Given the description of an element on the screen output the (x, y) to click on. 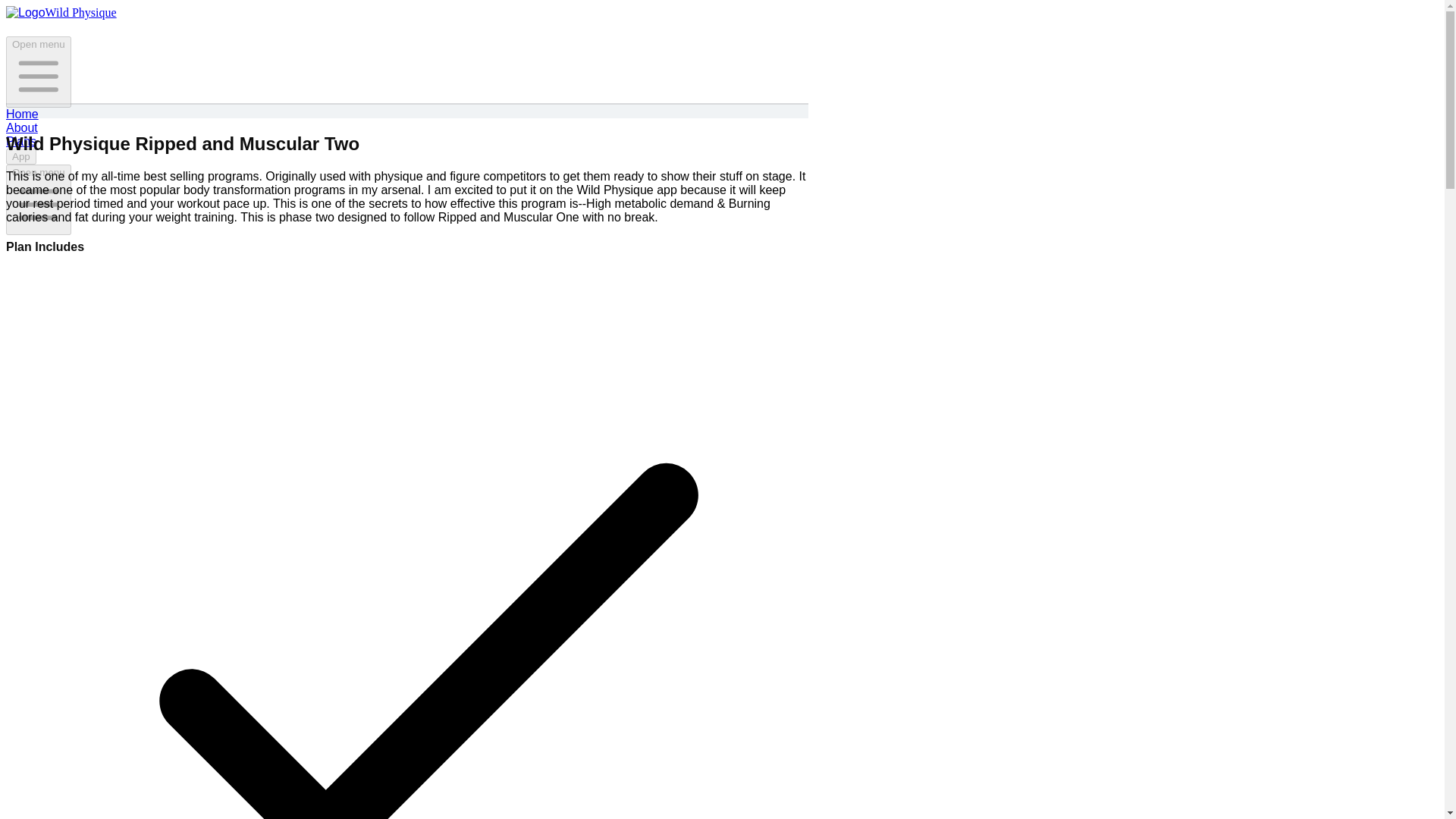
Open menu (38, 199)
Open menu (38, 71)
App (20, 156)
